Given the description of an element on the screen output the (x, y) to click on. 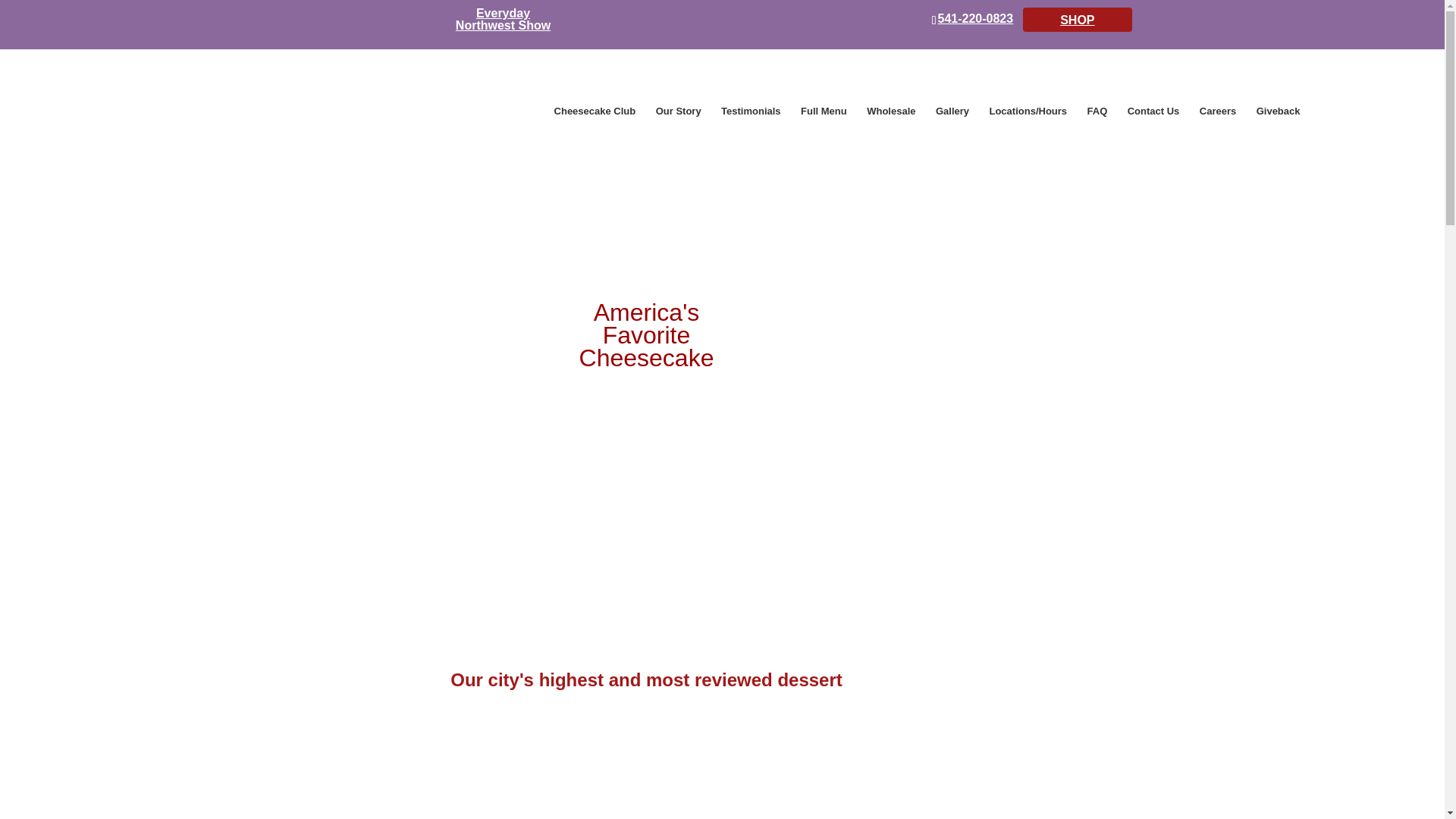
Giveback (1278, 111)
Full Menu (823, 111)
Gallery (952, 111)
Contact Us (1152, 111)
Everyday Northwest Show (502, 19)
Cheesecake Club (595, 111)
Our Story (678, 111)
FAQ (1097, 111)
SHOP (1077, 19)
Shop Now (646, 482)
Testimonials (750, 111)
Wholesale (890, 111)
541-220-0823 (972, 19)
Careers (1217, 111)
